Given the description of an element on the screen output the (x, y) to click on. 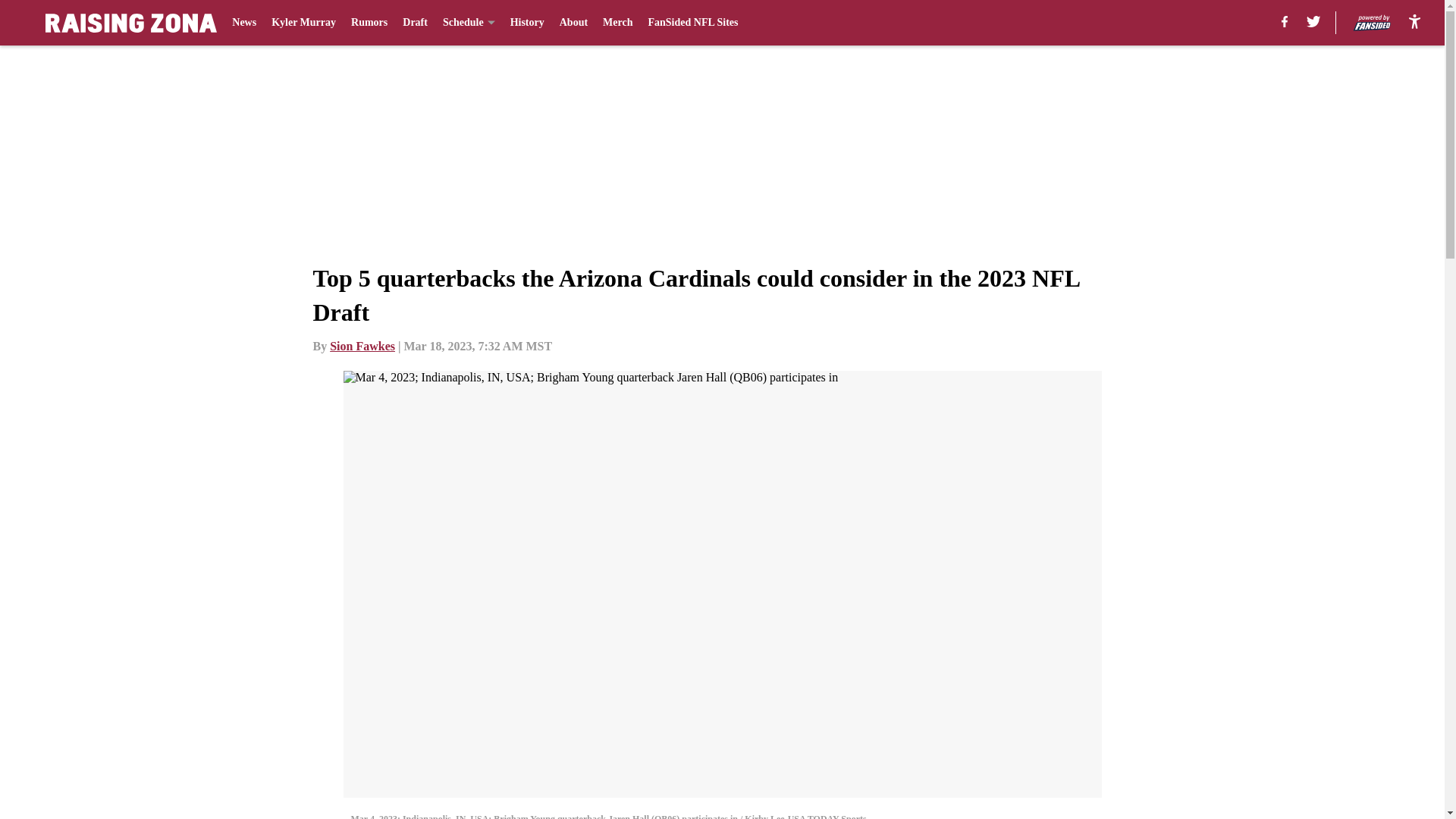
About (573, 22)
News (243, 22)
Rumors (368, 22)
Sion Fawkes (362, 345)
Kyler Murray (303, 22)
Merch (616, 22)
History (527, 22)
FanSided NFL Sites (692, 22)
Draft (415, 22)
